Given the description of an element on the screen output the (x, y) to click on. 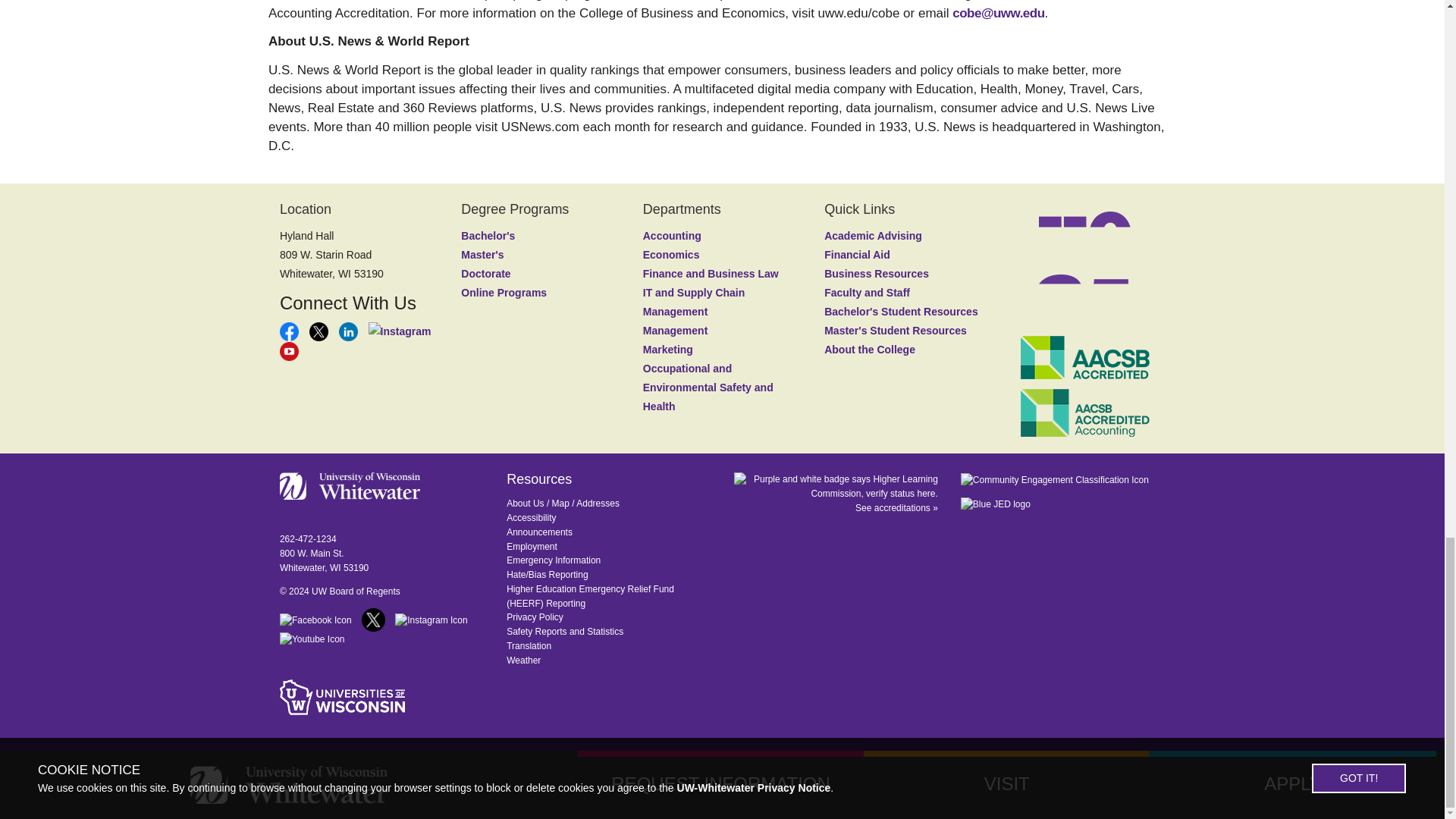
Online degree options (504, 292)
Economics Department Info (671, 254)
Follow CoBE on Twitter (319, 330)
Management Department Info (675, 330)
Accounting Department Info (672, 235)
Follow CoBE on Facebook (290, 330)
Doctorate of Bus. Admin. (486, 273)
Follow CoBE on LinkedIn (350, 330)
Academic advising (872, 235)
